Given the description of an element on the screen output the (x, y) to click on. 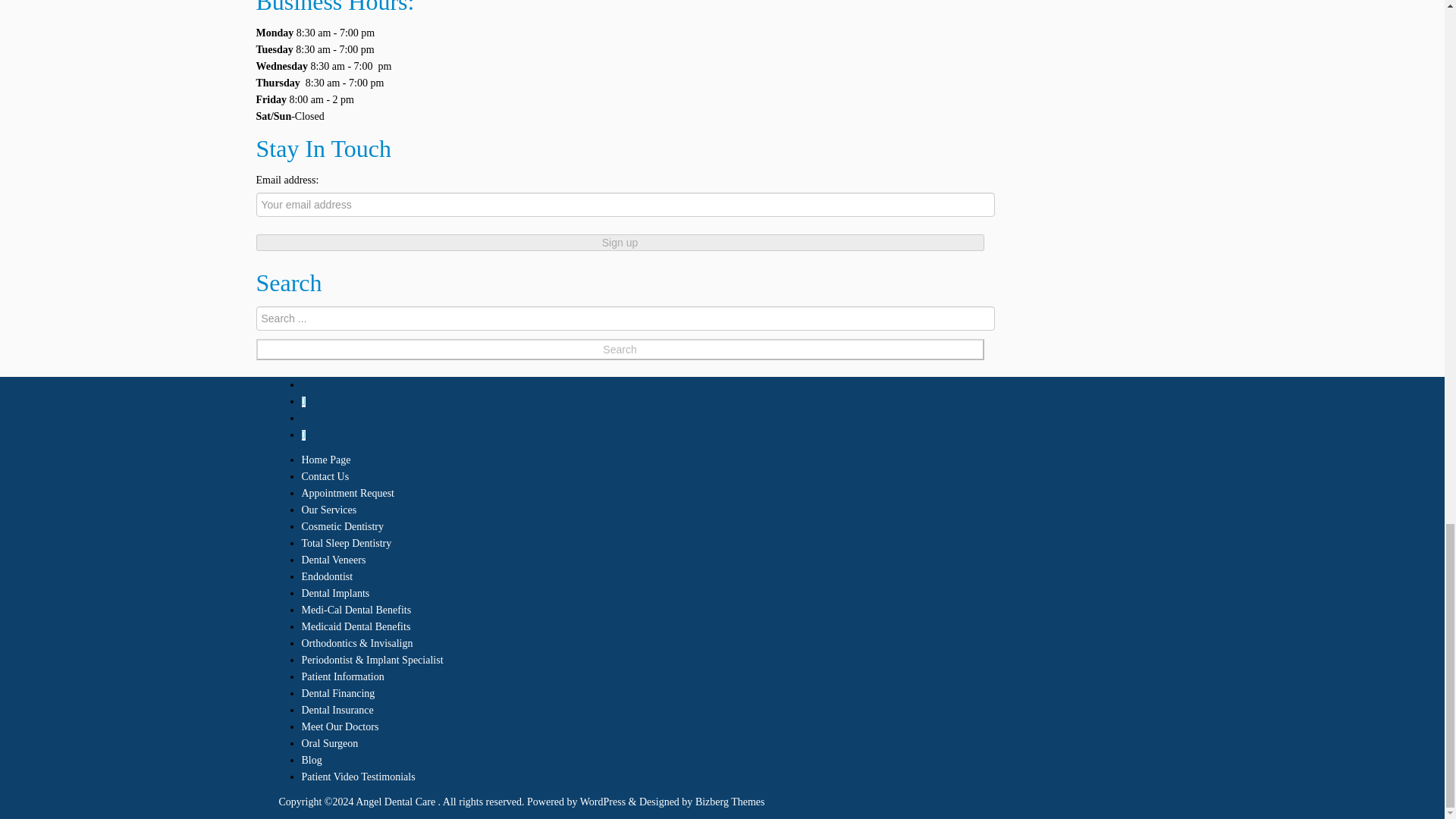
Sign up (620, 242)
Sign up (620, 242)
Search (620, 349)
Search (620, 349)
Search (620, 349)
